Given the description of an element on the screen output the (x, y) to click on. 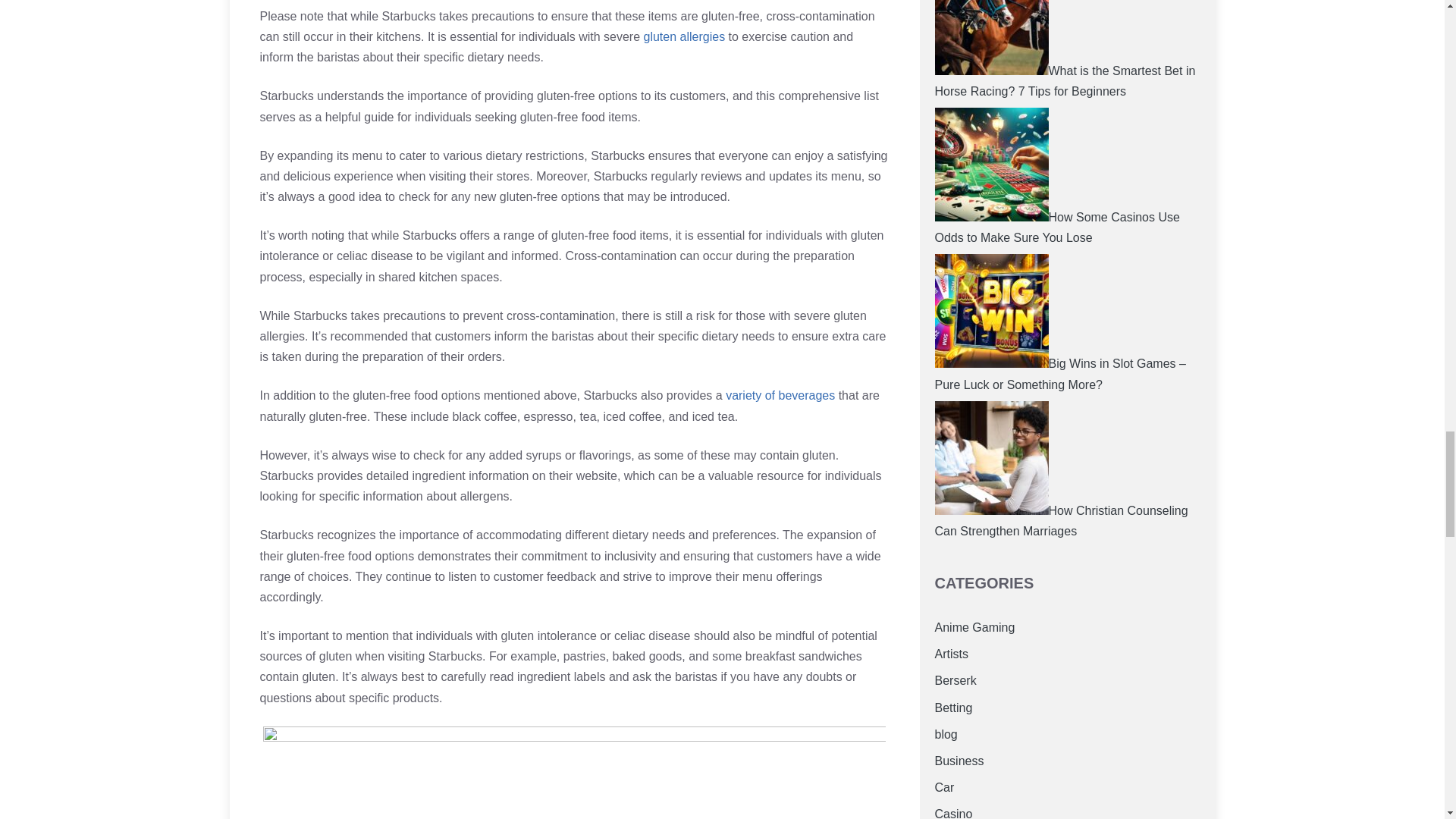
variety of beverages (779, 395)
gluten allergies (684, 36)
